Given the description of an element on the screen output the (x, y) to click on. 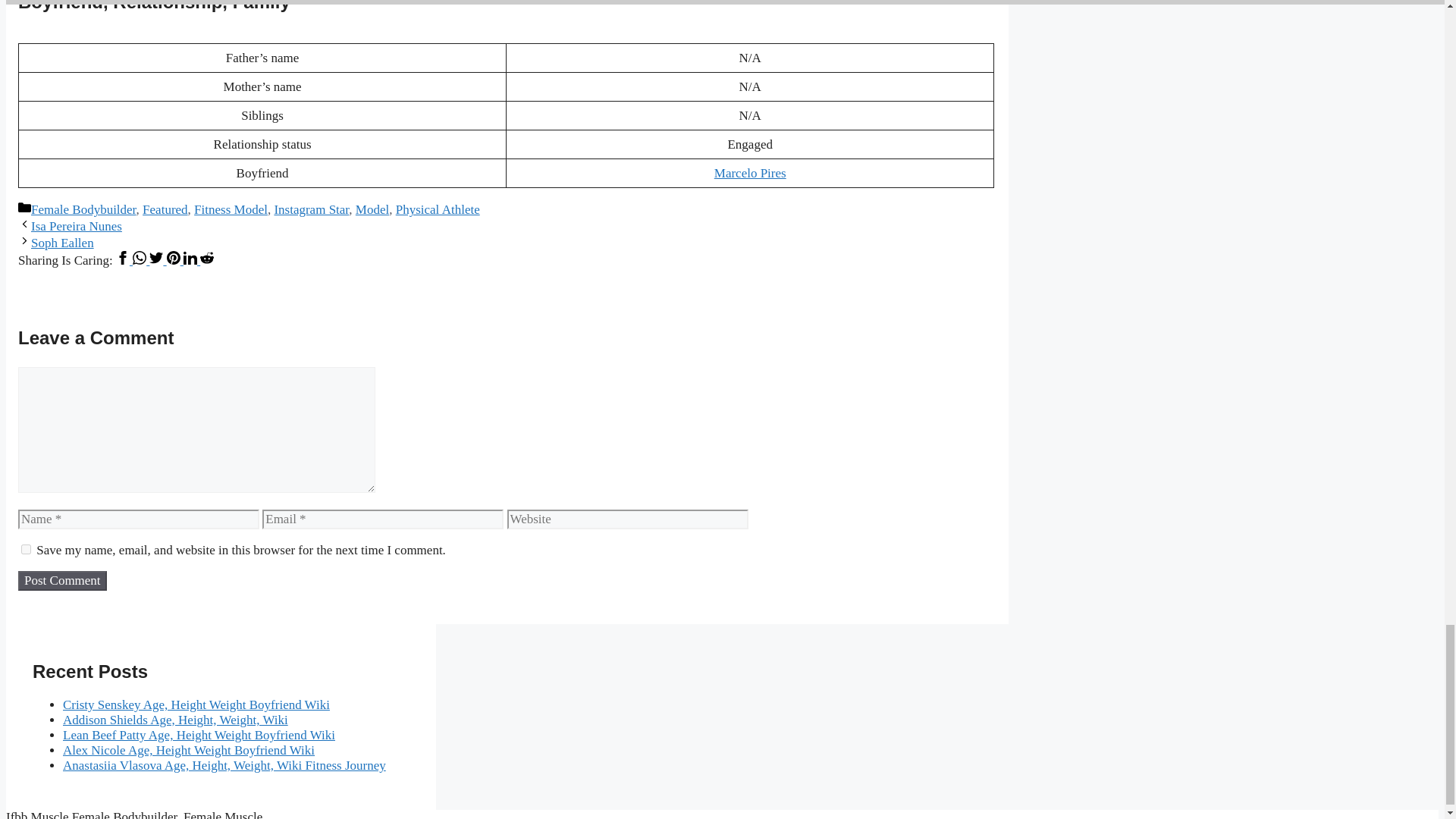
Instagram Star (311, 209)
Marcelo Pires (750, 173)
Female Bodybuilder (83, 209)
Featured (164, 209)
Physical Athlete (438, 209)
Post Comment (61, 580)
yes (25, 549)
Soph Eallen (62, 242)
Fitness Model (230, 209)
Isa Pereira Nunes (76, 226)
Model (371, 209)
